Given the description of an element on the screen output the (x, y) to click on. 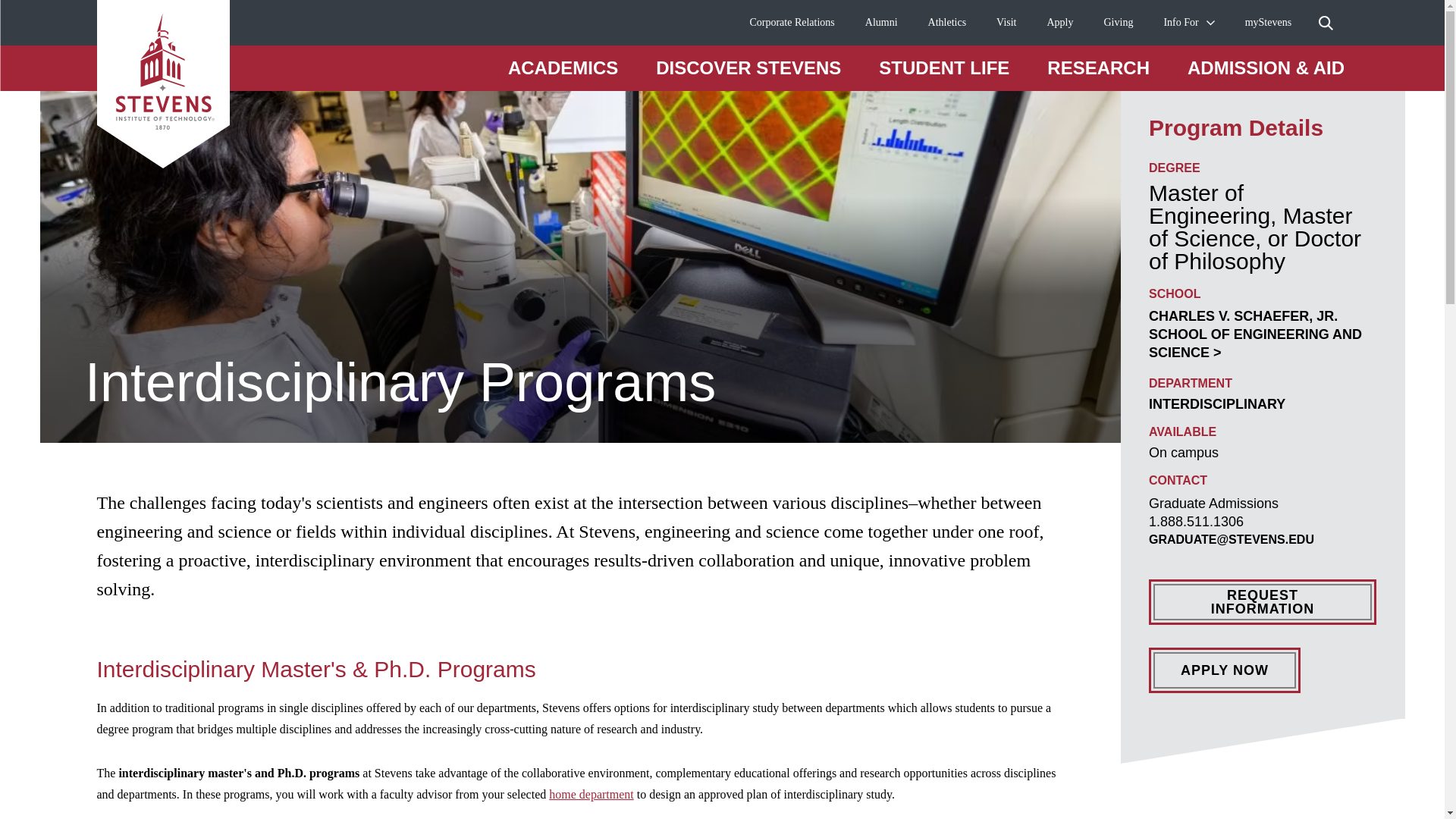
Alumni (881, 22)
ACADEMICS (562, 67)
myStevens (1267, 22)
Corporate Relations (791, 22)
Apply (1059, 22)
Athletics (947, 22)
Giving (1118, 22)
Visit (1005, 22)
Info For (1180, 22)
